Given the description of an element on the screen output the (x, y) to click on. 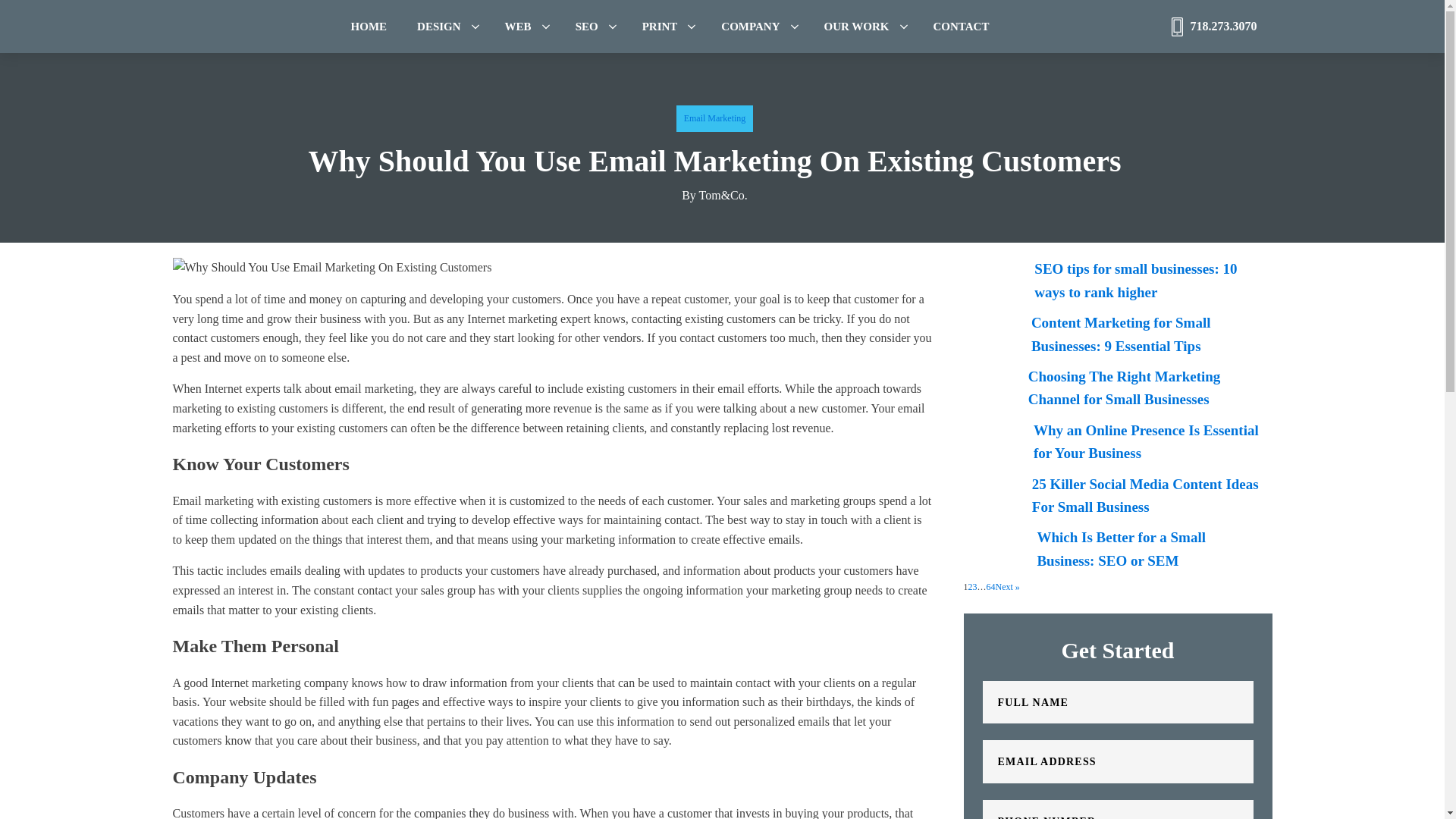
2 (970, 586)
Why an Online Presence Is Essential for Your Business (1116, 442)
Which Is Better for a Small Business: SEO or SEM (1116, 549)
Email Marketing (714, 118)
HOME (372, 26)
3 (974, 586)
SEO tips for small businesses: 10 ways to rank higher (1116, 280)
OUR WORK (856, 26)
CONTACT (965, 26)
Choosing The Right Marketing Channel for Small Businesses (1116, 388)
718.273.3070 (1223, 26)
Content Marketing for Small Businesses: 9 Essential Tips (1116, 334)
25 Killer Social Media Content Ideas For Small Business (1116, 496)
